Given the description of an element on the screen output the (x, y) to click on. 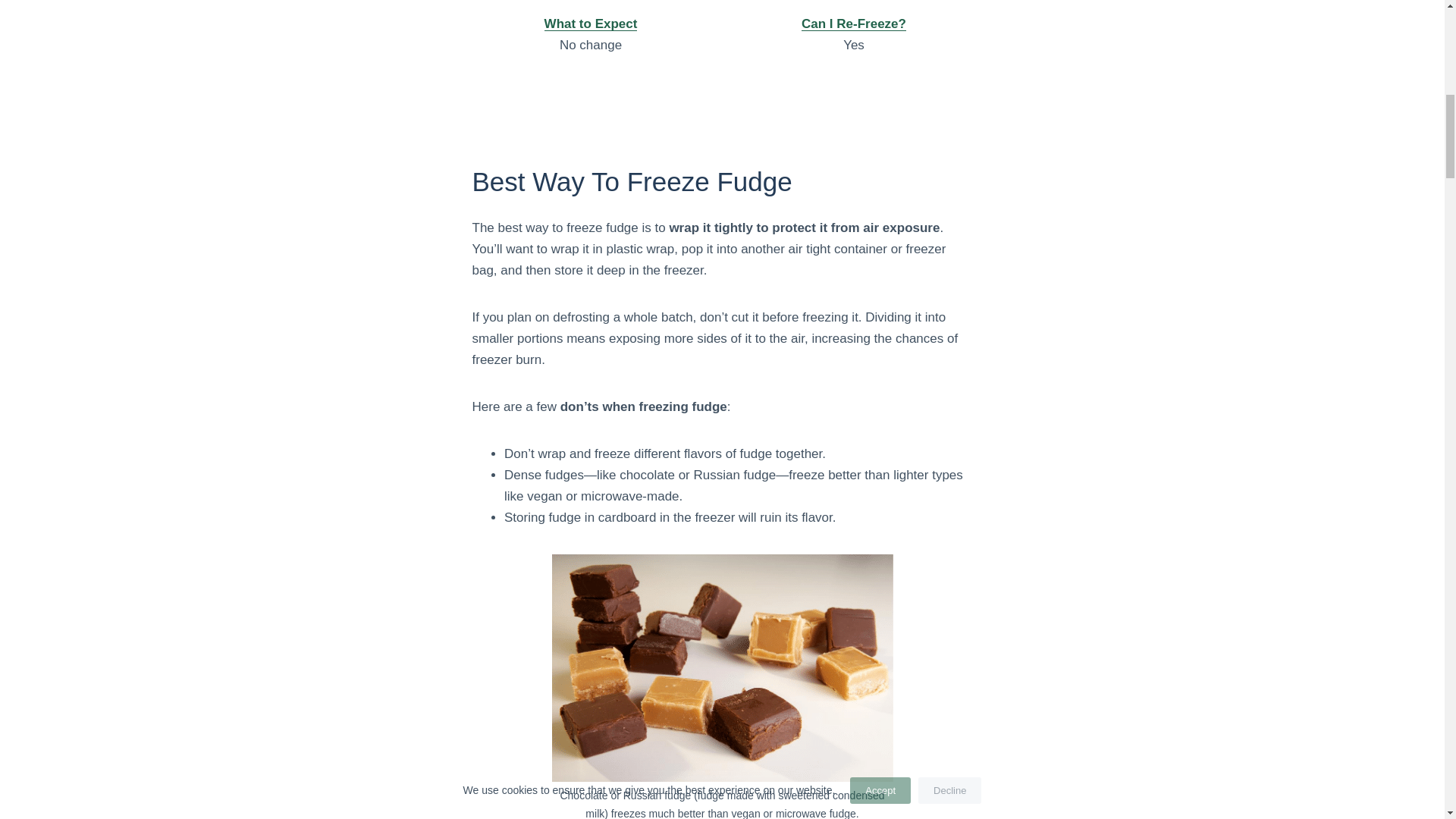
Can I Re-Freeze? (853, 23)
What to Expect (590, 23)
